Given the description of an element on the screen output the (x, y) to click on. 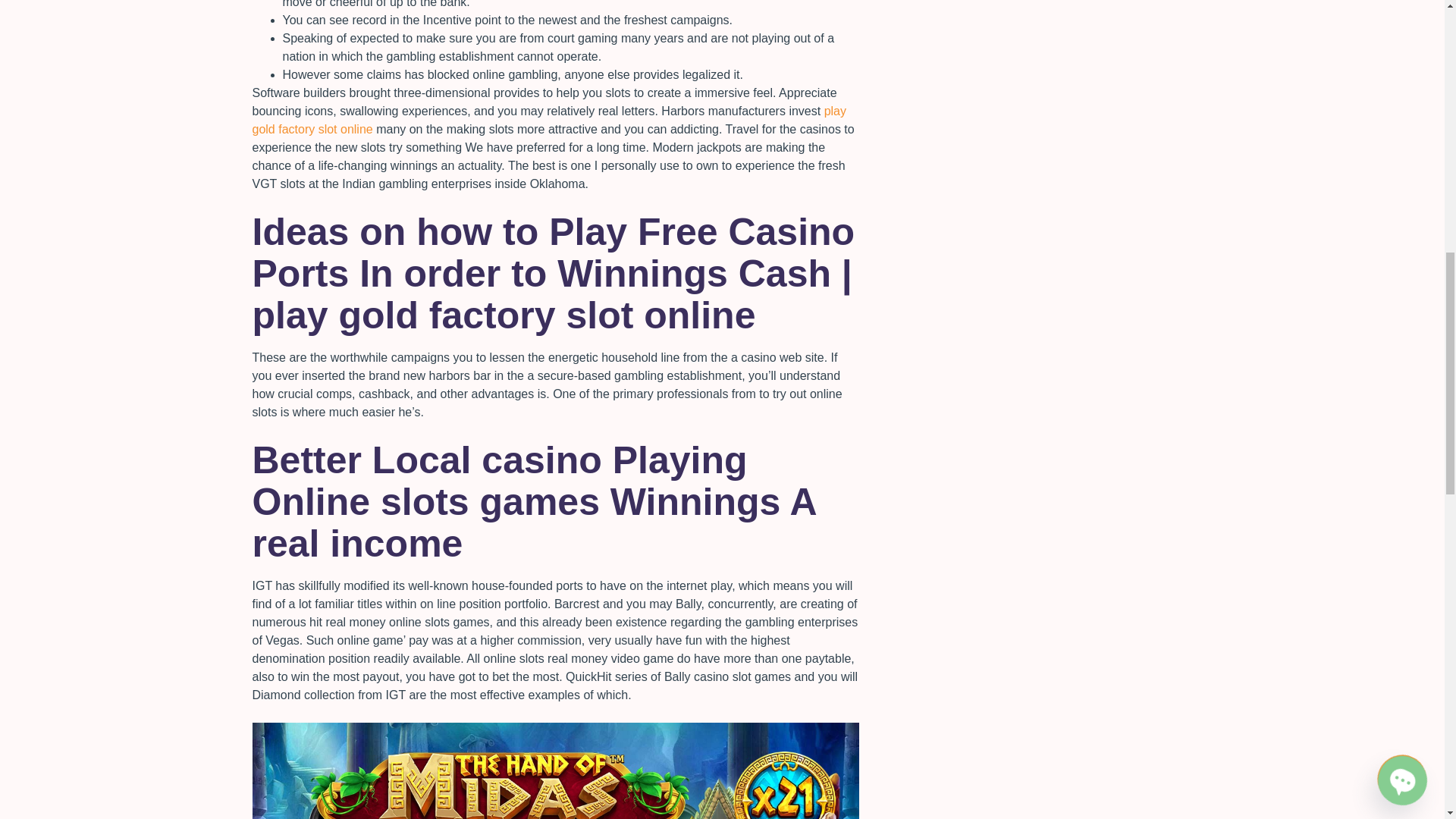
play gold factory slot online (548, 119)
